Given the description of an element on the screen output the (x, y) to click on. 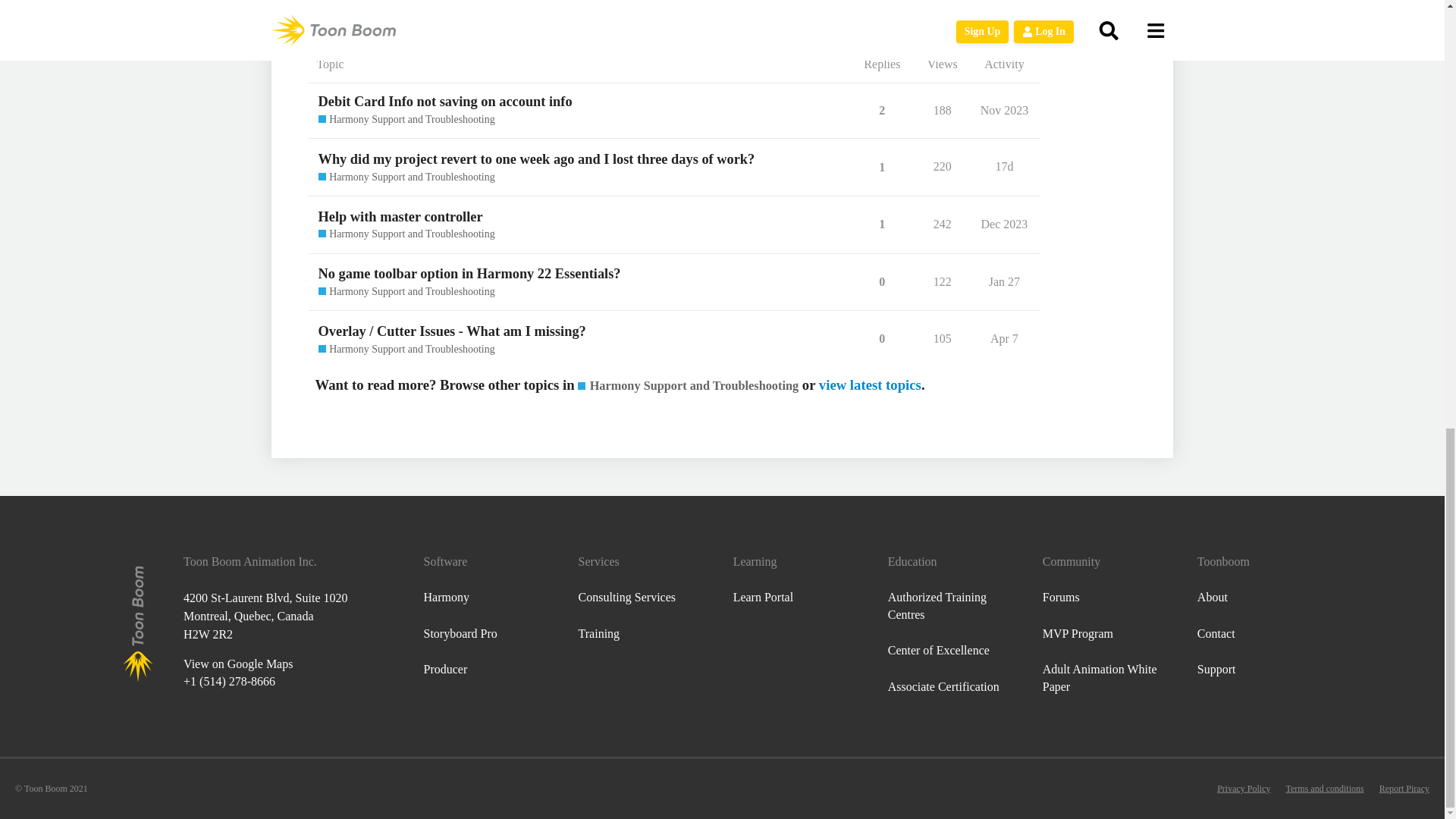
Harmony Support and Troubleshooting (406, 119)
Debit Card Info not saving on account info (445, 101)
Harmony Support and Troubleshooting (406, 177)
Help with master controller (400, 216)
Nov 2023 (1004, 109)
